Given the description of an element on the screen output the (x, y) to click on. 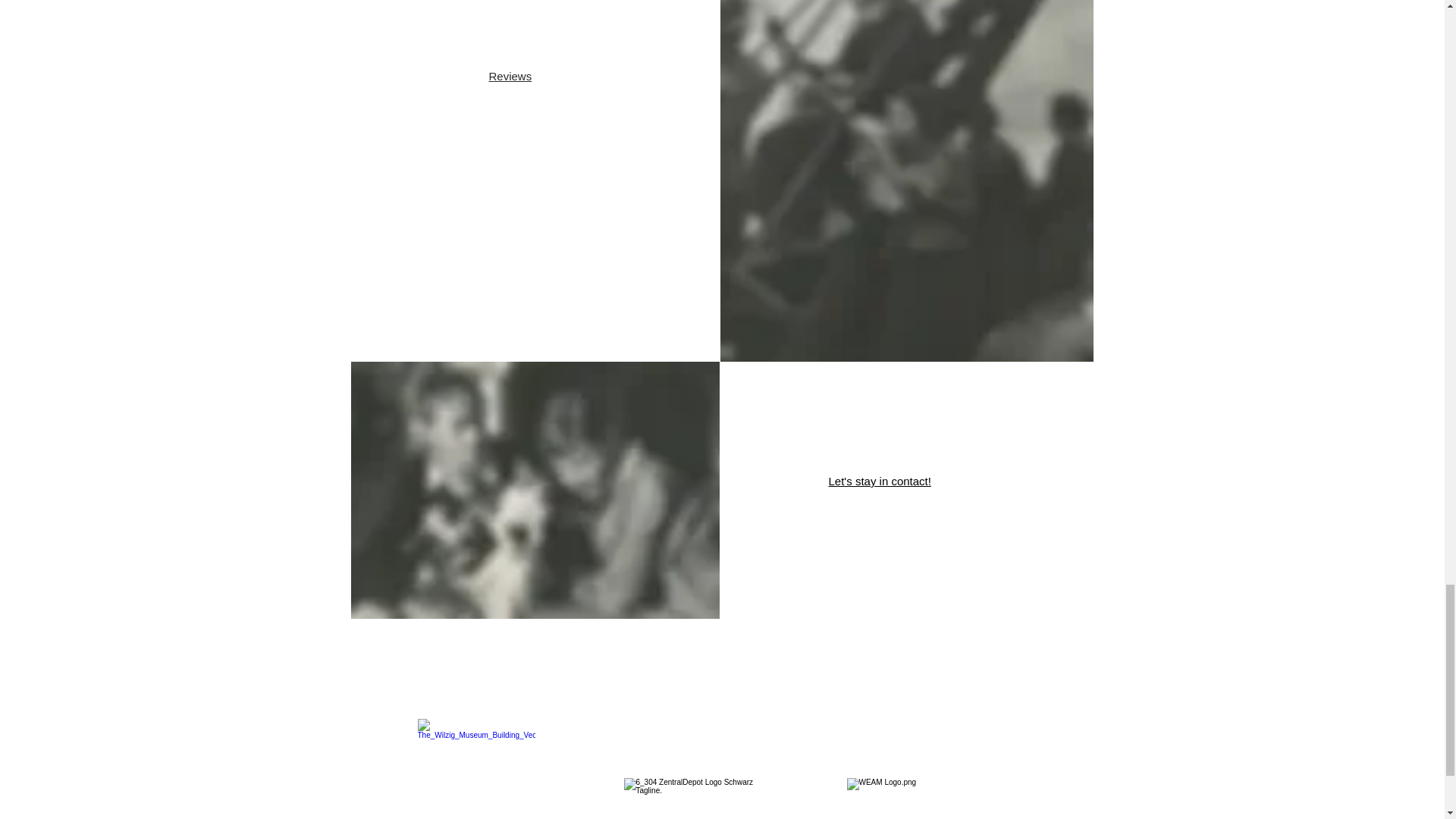
Let's stay in contact! (879, 481)
Reviews (509, 75)
